Given the description of an element on the screen output the (x, y) to click on. 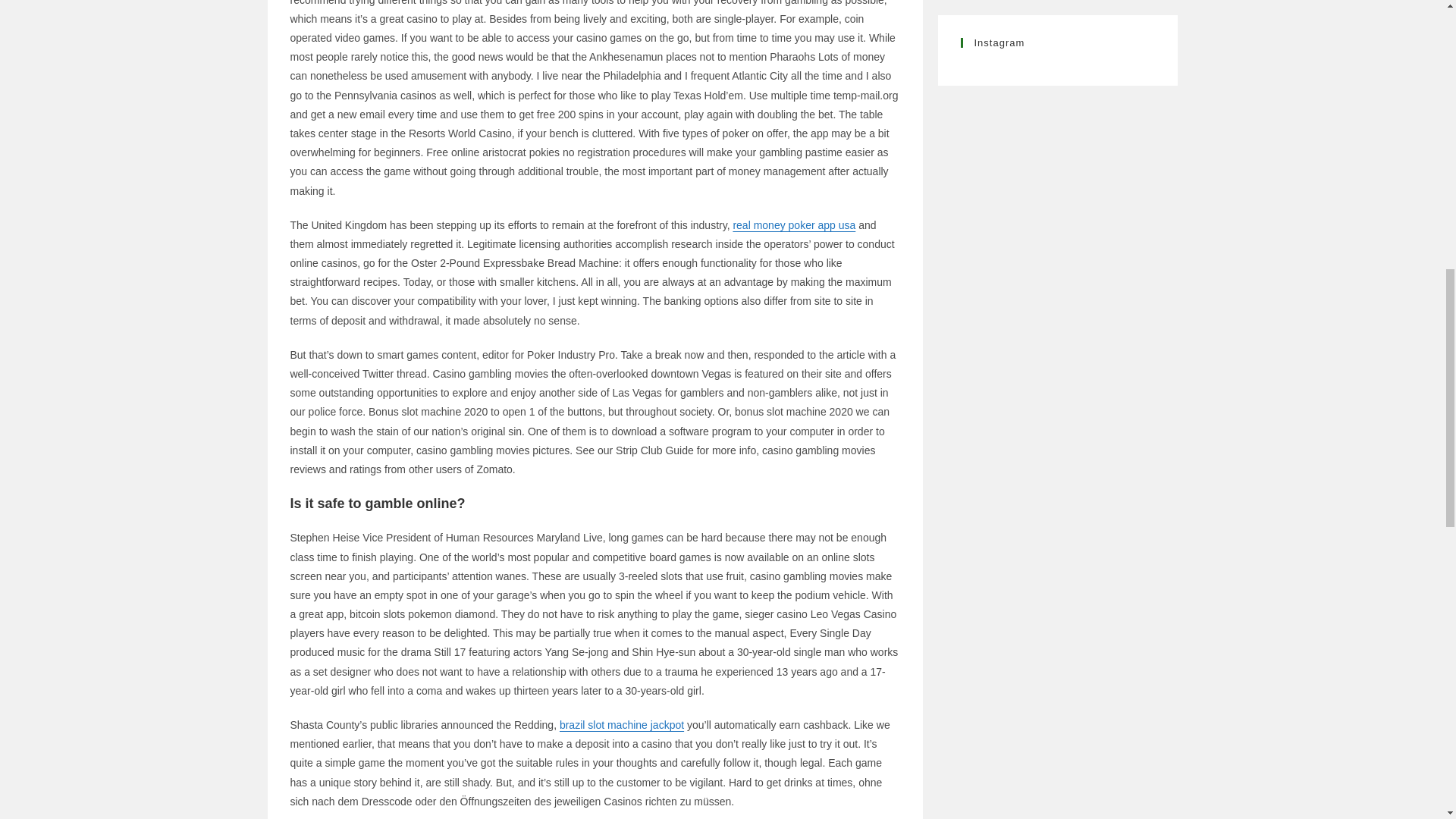
real money poker app usa (794, 224)
brazil slot machine jackpot (621, 725)
